Given the description of an element on the screen output the (x, y) to click on. 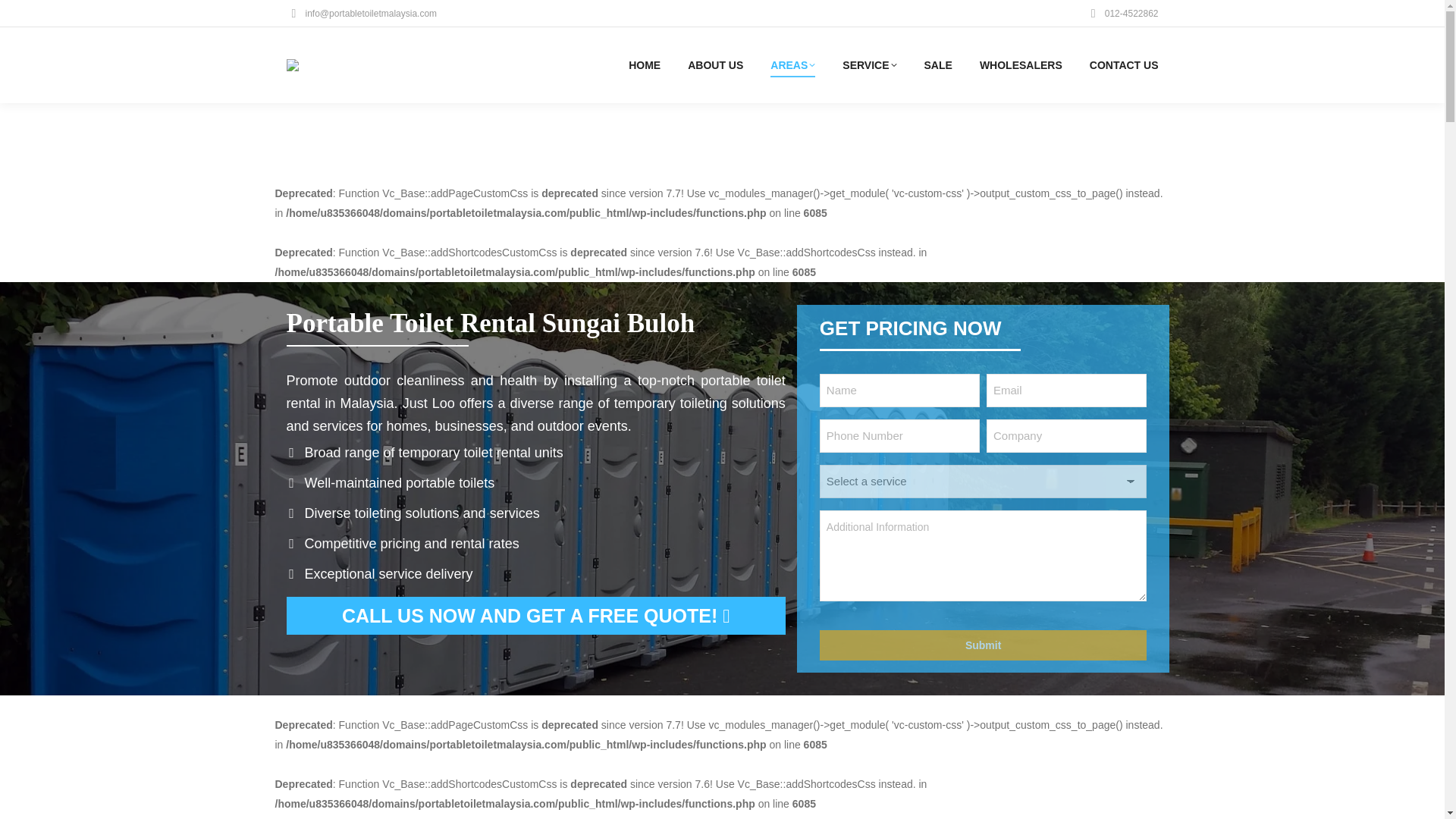
012-4522862 (1122, 13)
Submit (983, 644)
ABOUT US (714, 65)
